Given the description of an element on the screen output the (x, y) to click on. 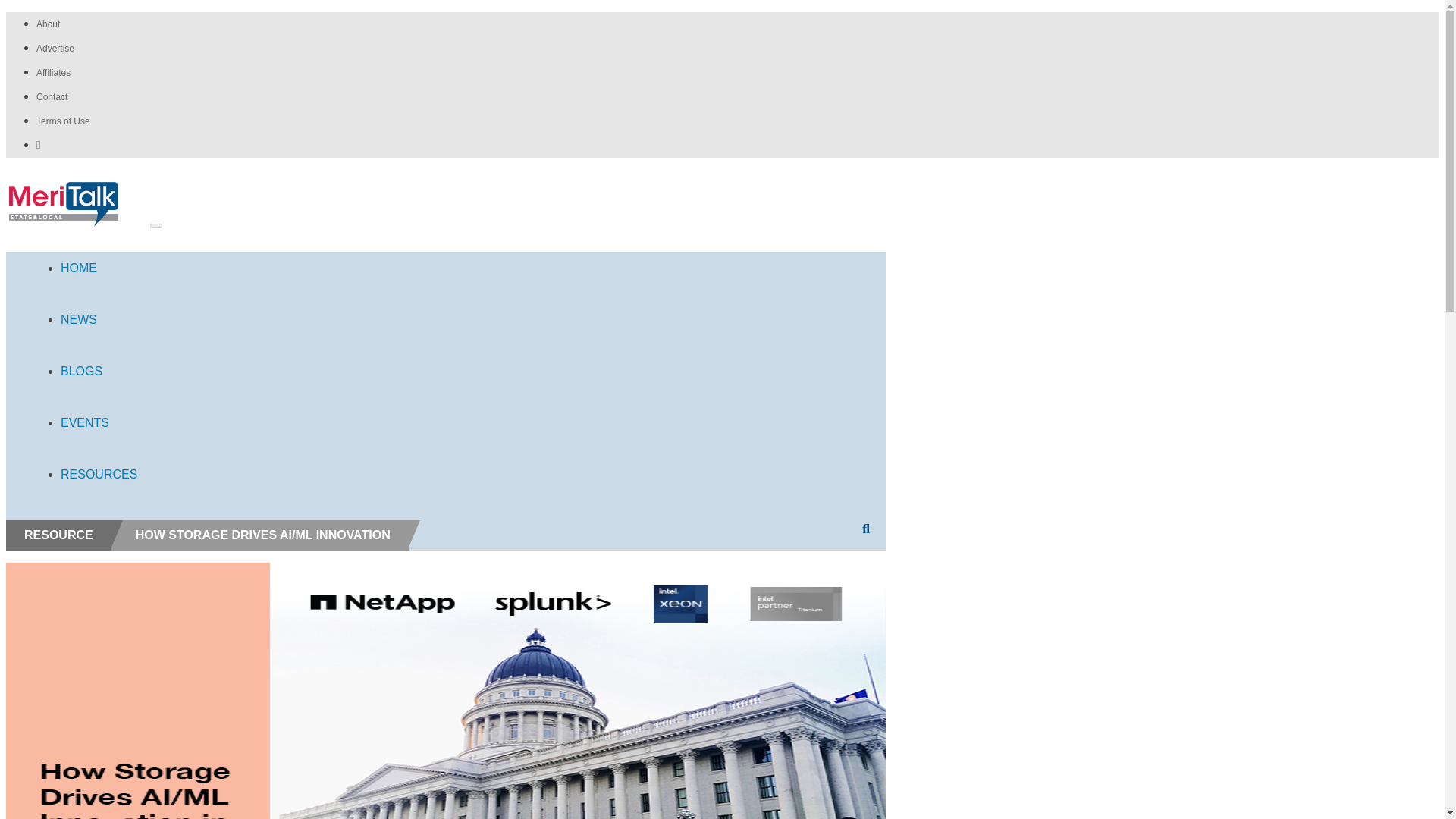
RESOURCE (58, 534)
RESOURCES (98, 475)
Contact (51, 96)
NEWS (98, 320)
BLOGS (98, 372)
Resources (98, 475)
Terms of Use (63, 121)
Events (98, 424)
Home (98, 269)
Blogs (98, 372)
EVENTS (98, 424)
News (98, 320)
Affiliates (52, 72)
About (47, 23)
HOME (98, 269)
